Given the description of an element on the screen output the (x, y) to click on. 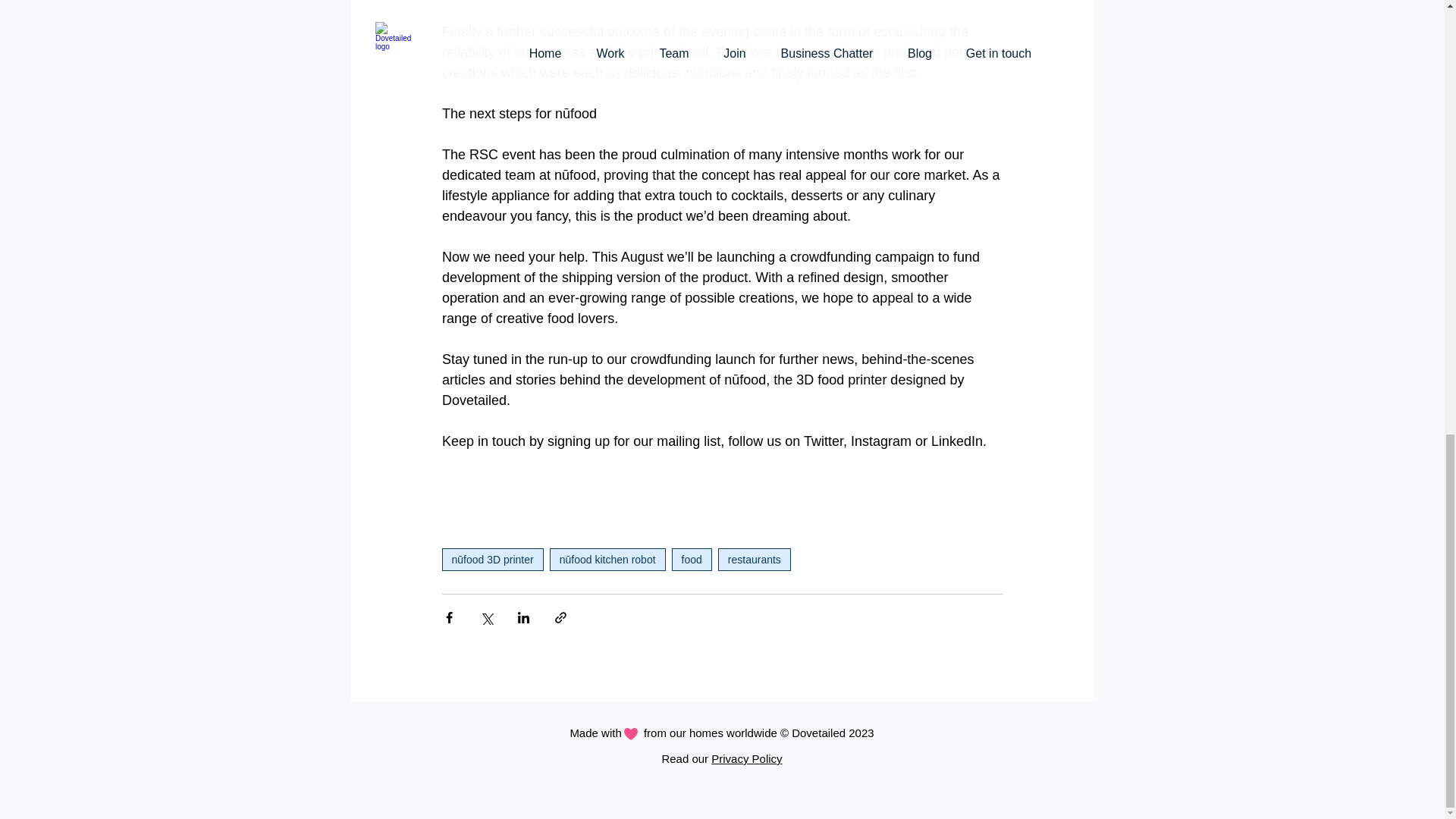
LinkedIn (956, 441)
food (691, 558)
restaurants (753, 558)
Privacy Policy (746, 758)
Instagram (880, 441)
Twitter (823, 441)
